Given the description of an element on the screen output the (x, y) to click on. 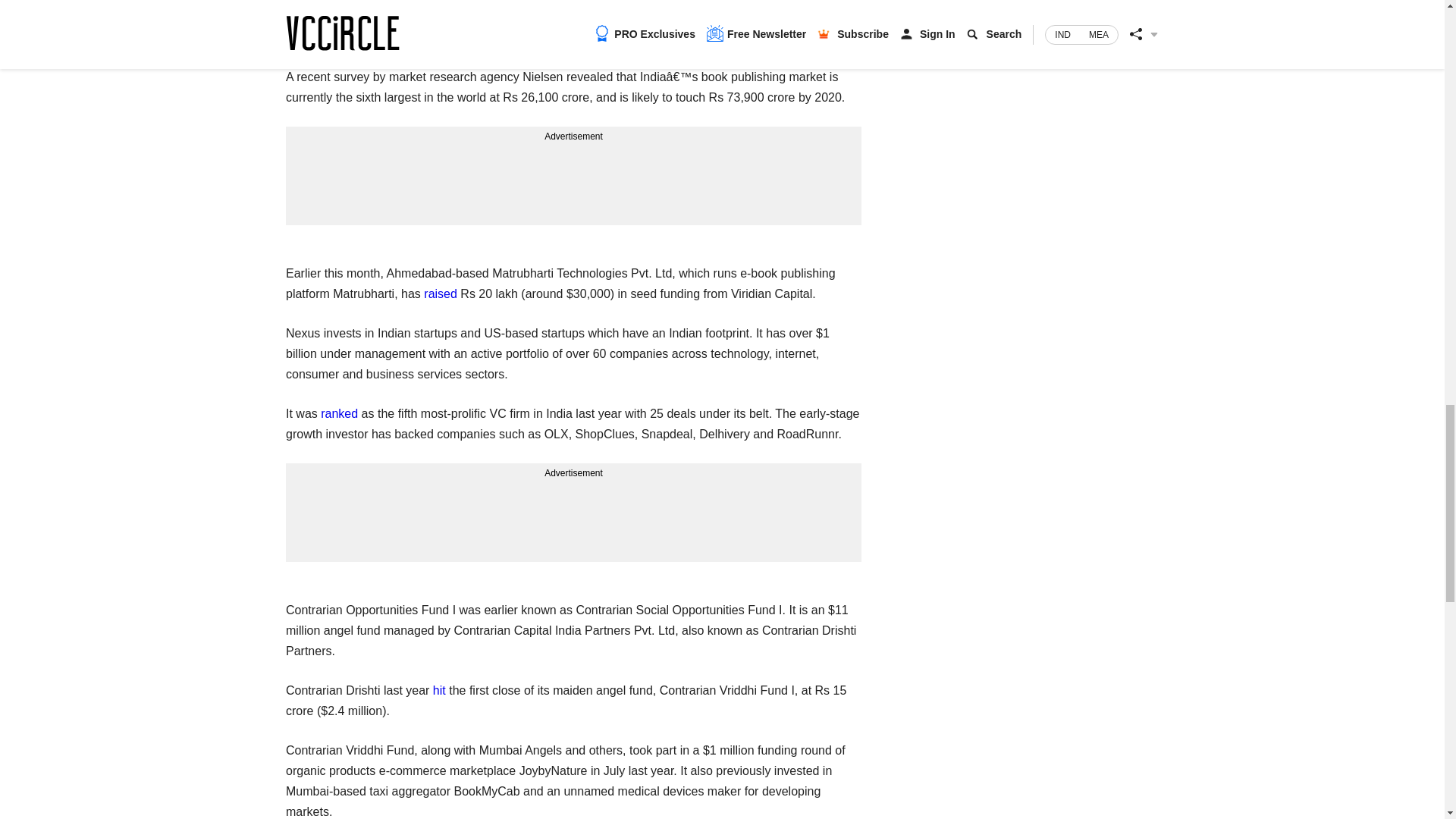
hit (438, 689)
raised (440, 293)
ranked (339, 413)
